Given the description of an element on the screen output the (x, y) to click on. 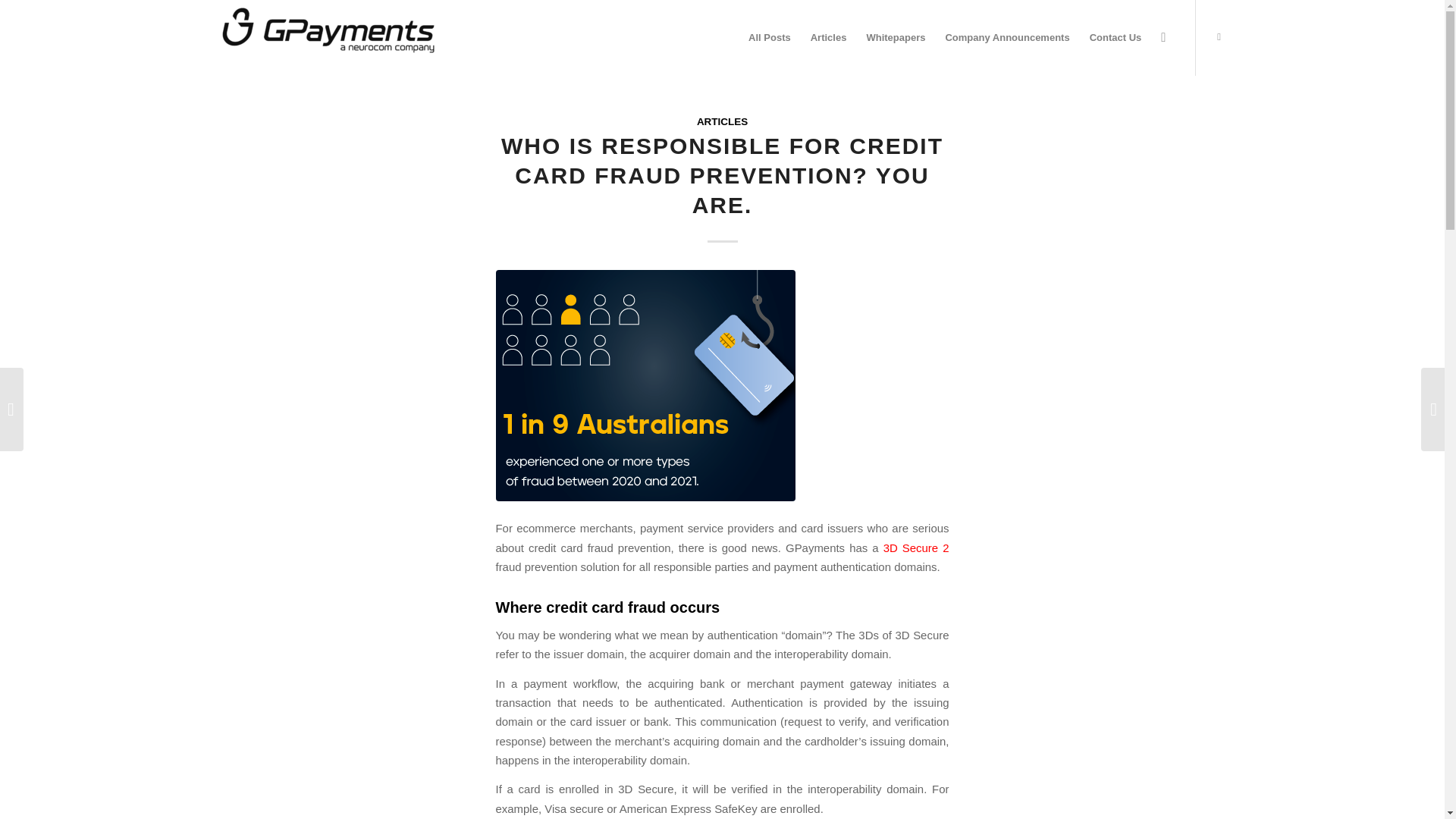
3D Secure 2 (916, 547)
ARTICLES (722, 121)
Company Announcements (1006, 38)
LinkedIn (1218, 36)
Whitepapers (895, 38)
Contact Us (1115, 38)
